Given the description of an element on the screen output the (x, y) to click on. 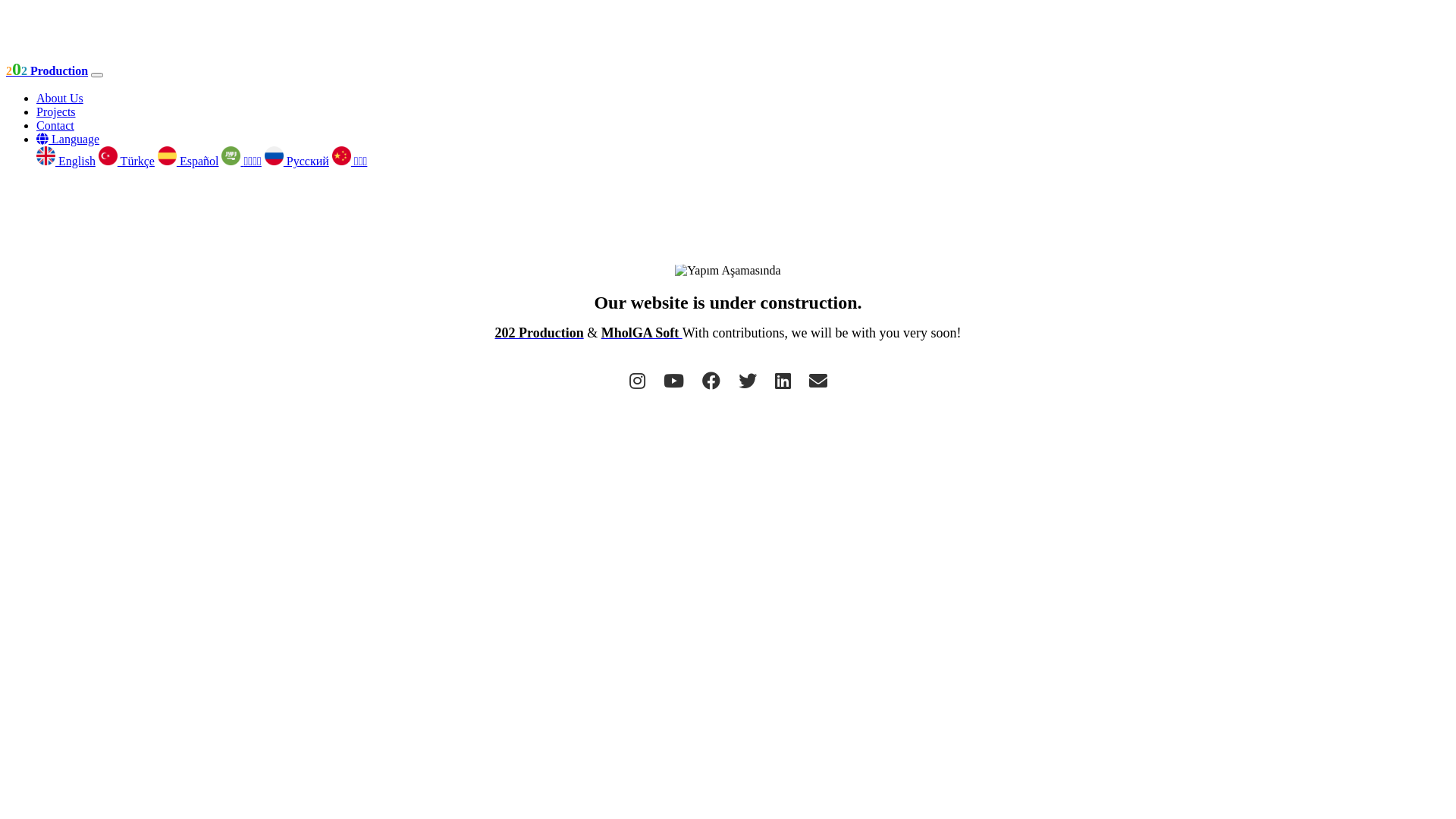
202 Production goes to the Twitter page Element type: hover (747, 381)
English Element type: text (65, 160)
202 Production goes to the Facebook page Element type: hover (711, 381)
202 production goes to the Instagram page Element type: hover (637, 381)
Send an email to 202 Production Element type: hover (817, 381)
202 Production Element type: text (46, 70)
202 Production goes to the LinkedIn page Element type: hover (782, 381)
About Us Element type: text (59, 97)
MholGA Soft Element type: text (641, 332)
202 production goes to the YouTube page Element type: hover (672, 381)
202 Production Element type: text (539, 332)
Contact Element type: text (55, 125)
Language Element type: text (67, 138)
Projects Element type: text (55, 111)
